Given the description of an element on the screen output the (x, y) to click on. 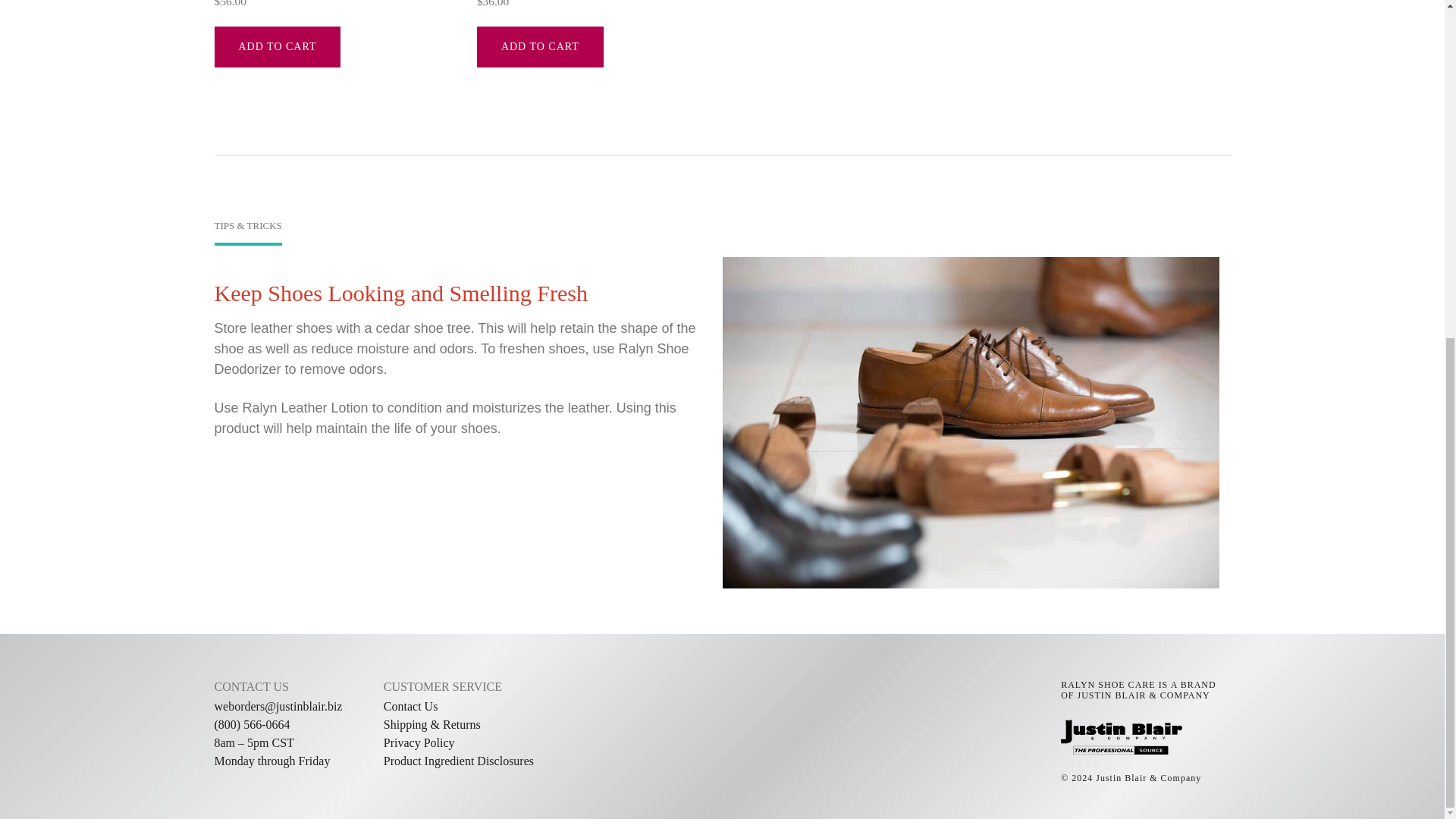
Privacy Policy (419, 742)
Keep Shoes Looking and Smelling Fresh (400, 292)
Contact Us (411, 706)
ADD TO CART (277, 46)
ADD TO CART (540, 46)
